Given the description of an element on the screen output the (x, y) to click on. 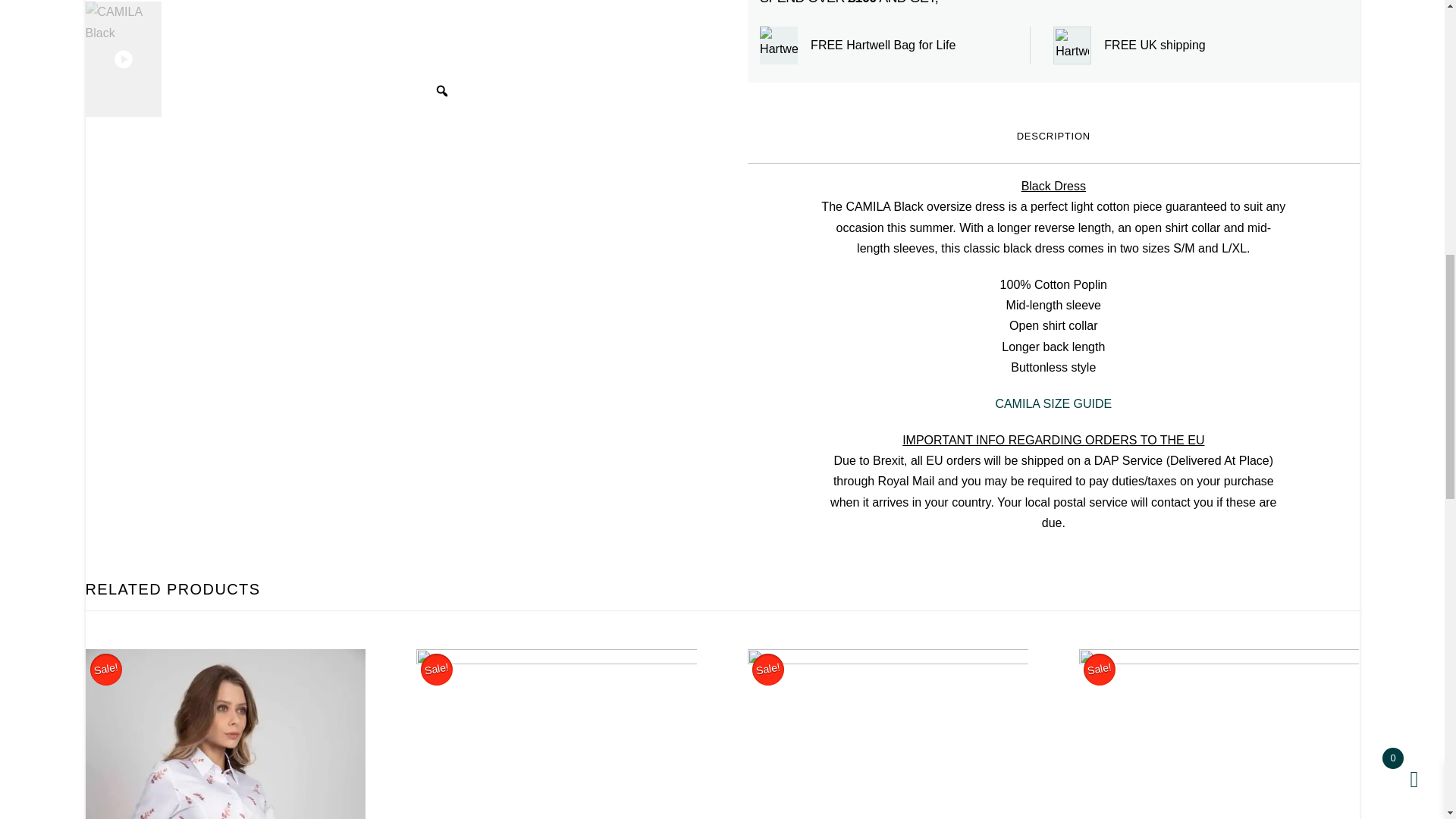
CAMILA SIZE GUIDE (1053, 403)
Camila Black 2 (123, 0)
DESCRIPTION (1053, 136)
CAMILA Black (123, 58)
Camila Black (314, 58)
